Given the description of an element on the screen output the (x, y) to click on. 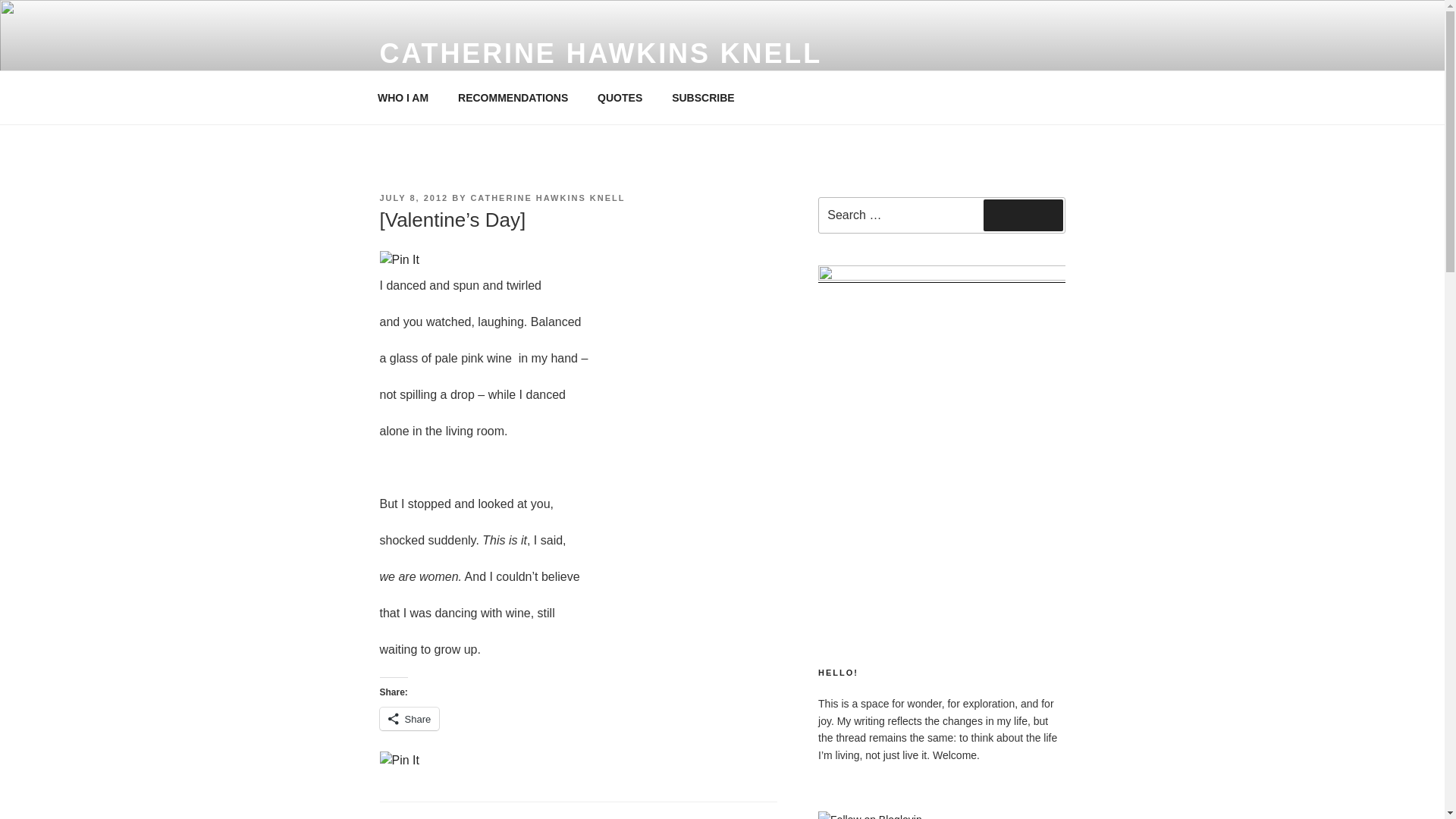
Share (408, 718)
JULY 8, 2012 (413, 197)
WHO I AM (402, 97)
RECOMMENDATIONS (512, 97)
SUBSCRIBE (703, 97)
Pin It (398, 259)
QUOTES (620, 97)
CATHERINE HAWKINS KNELL (600, 52)
CATHERINE HAWKINS KNELL (547, 197)
Follow neither here nor there on Bloglovin (869, 816)
